Given the description of an element on the screen output the (x, y) to click on. 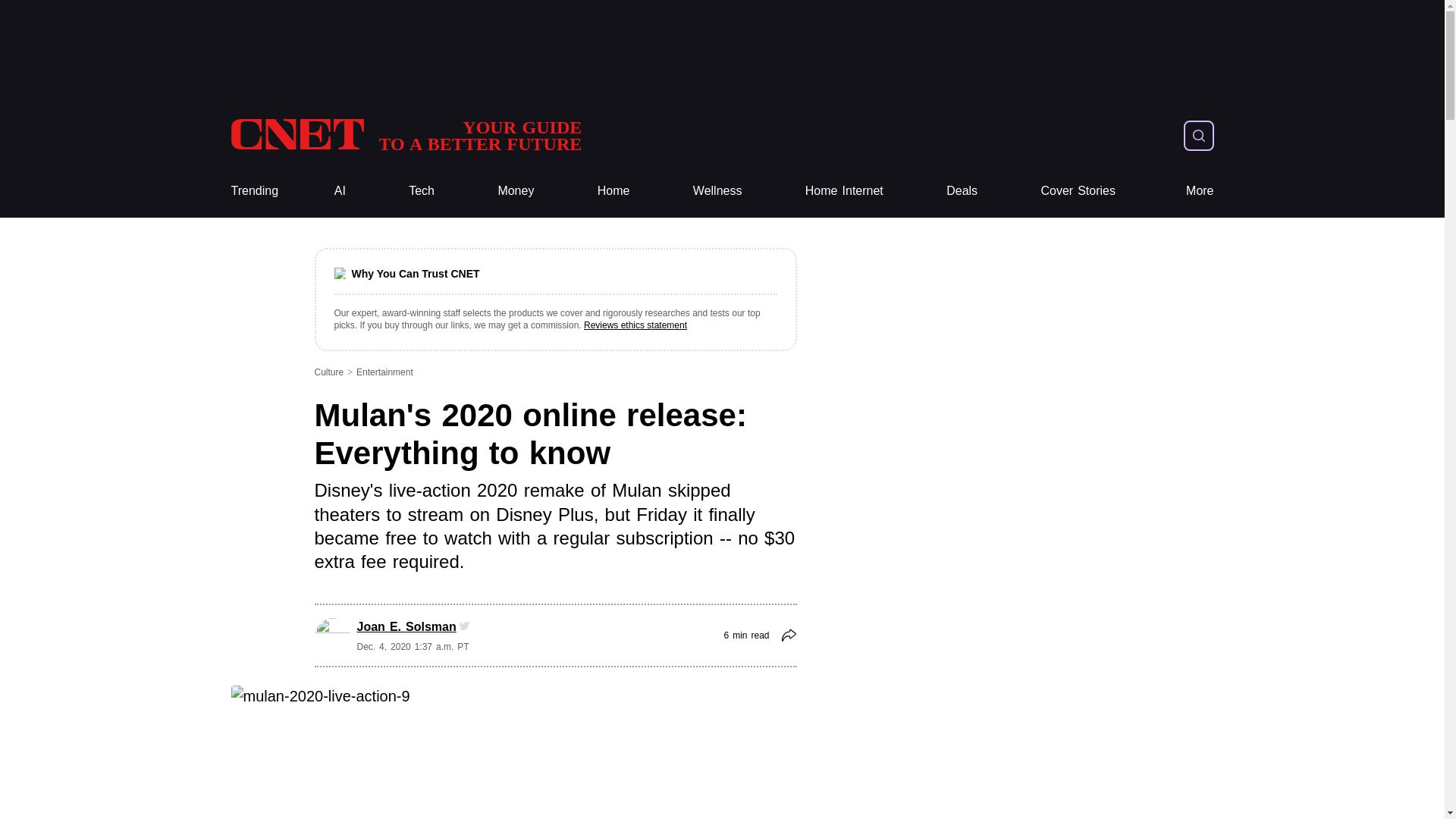
CNET (405, 135)
Tech (421, 190)
Home Internet (405, 135)
Trending (844, 190)
Money (254, 190)
Home Internet (515, 190)
Deals (844, 190)
Tech (961, 190)
Wellness (421, 190)
